Given the description of an element on the screen output the (x, y) to click on. 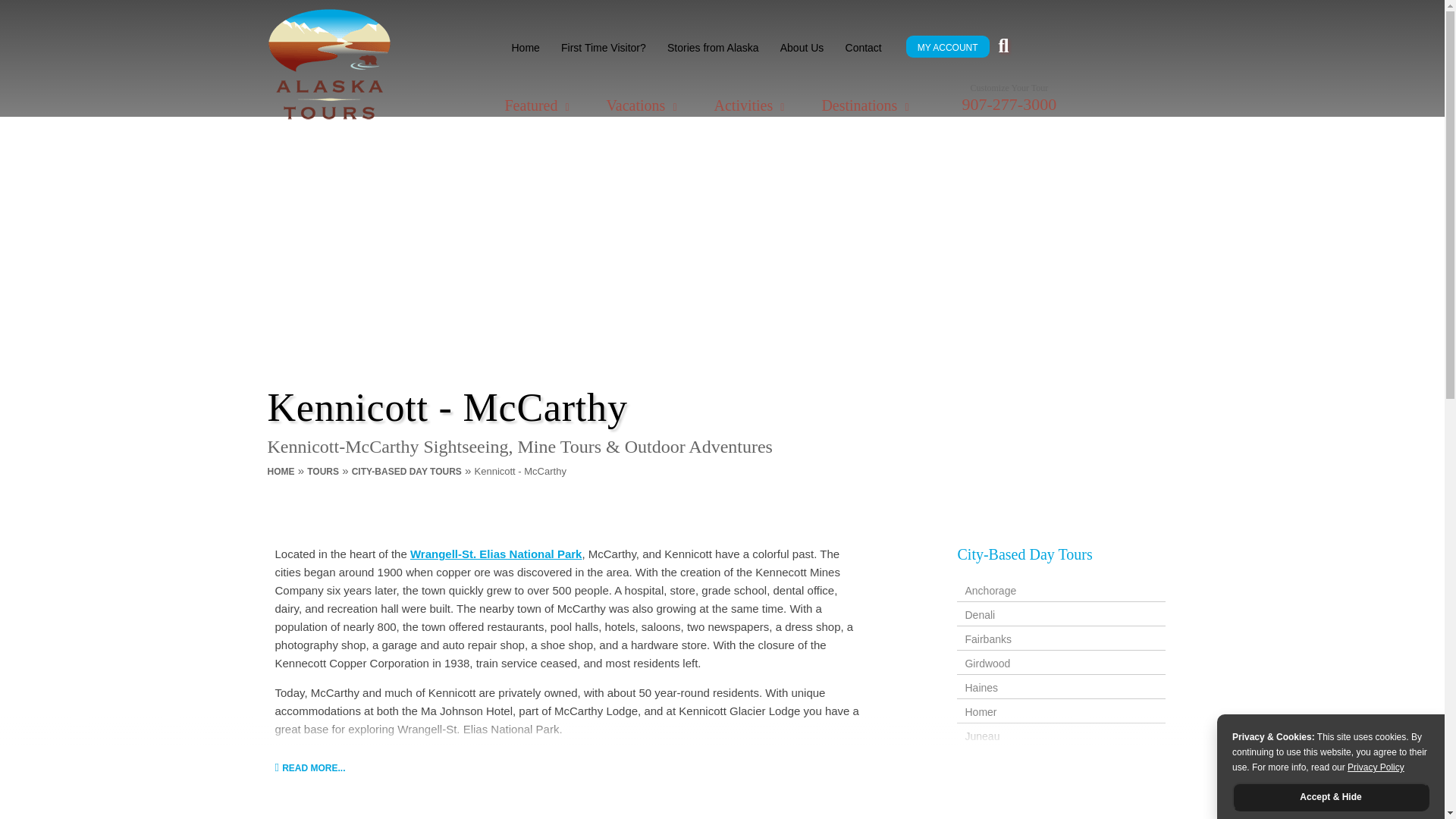
Stories from Alaska (713, 47)
Featured (539, 105)
First Time Visitor? (603, 47)
Home (524, 47)
Kennicott Glacier Lodge - Alaska Vacation (570, 799)
MY ACCOUNT (947, 47)
Contact (864, 47)
About Us (801, 47)
